Given the description of an element on the screen output the (x, y) to click on. 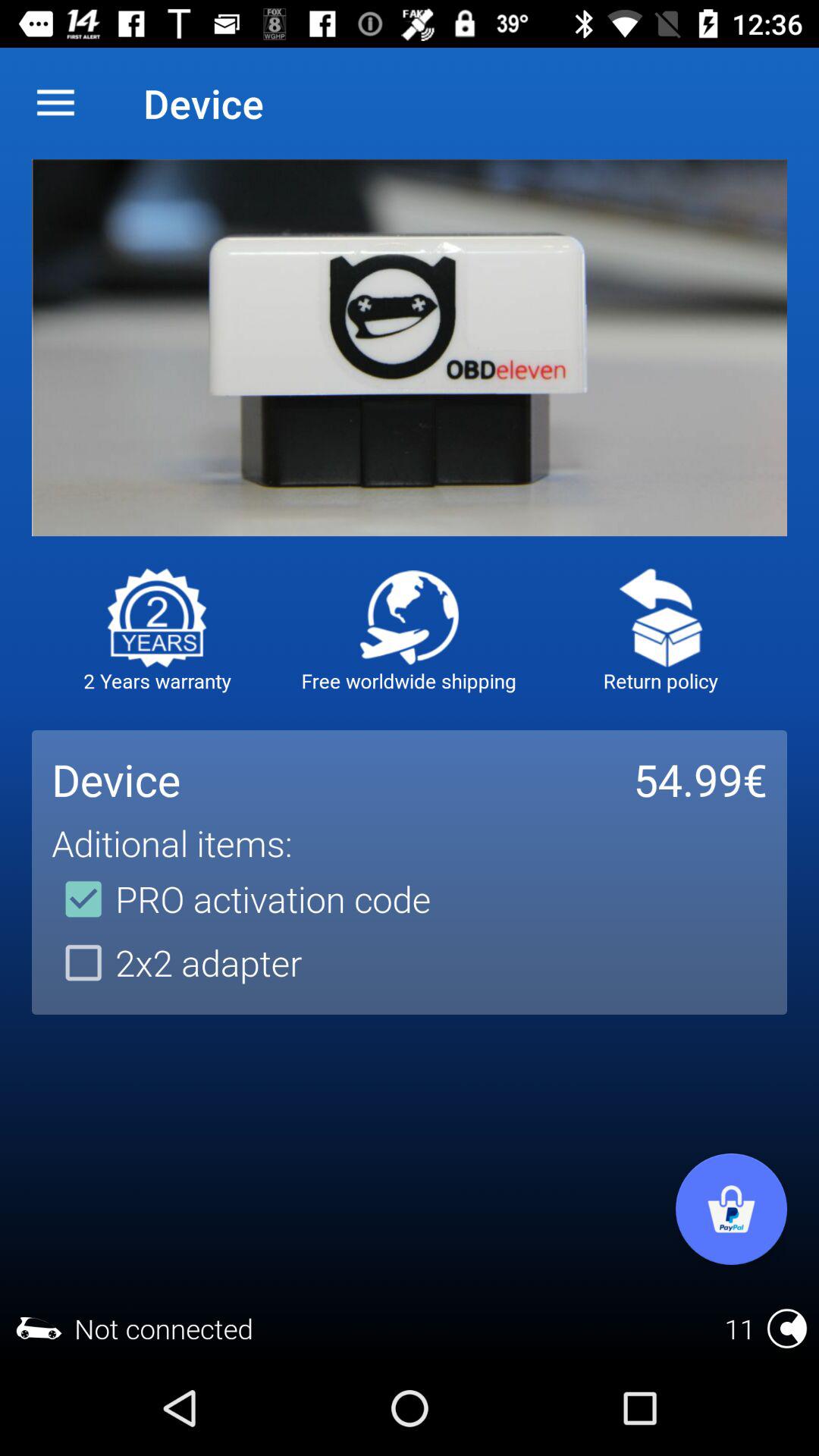
select item above the not connected icon (176, 962)
